Given the description of an element on the screen output the (x, y) to click on. 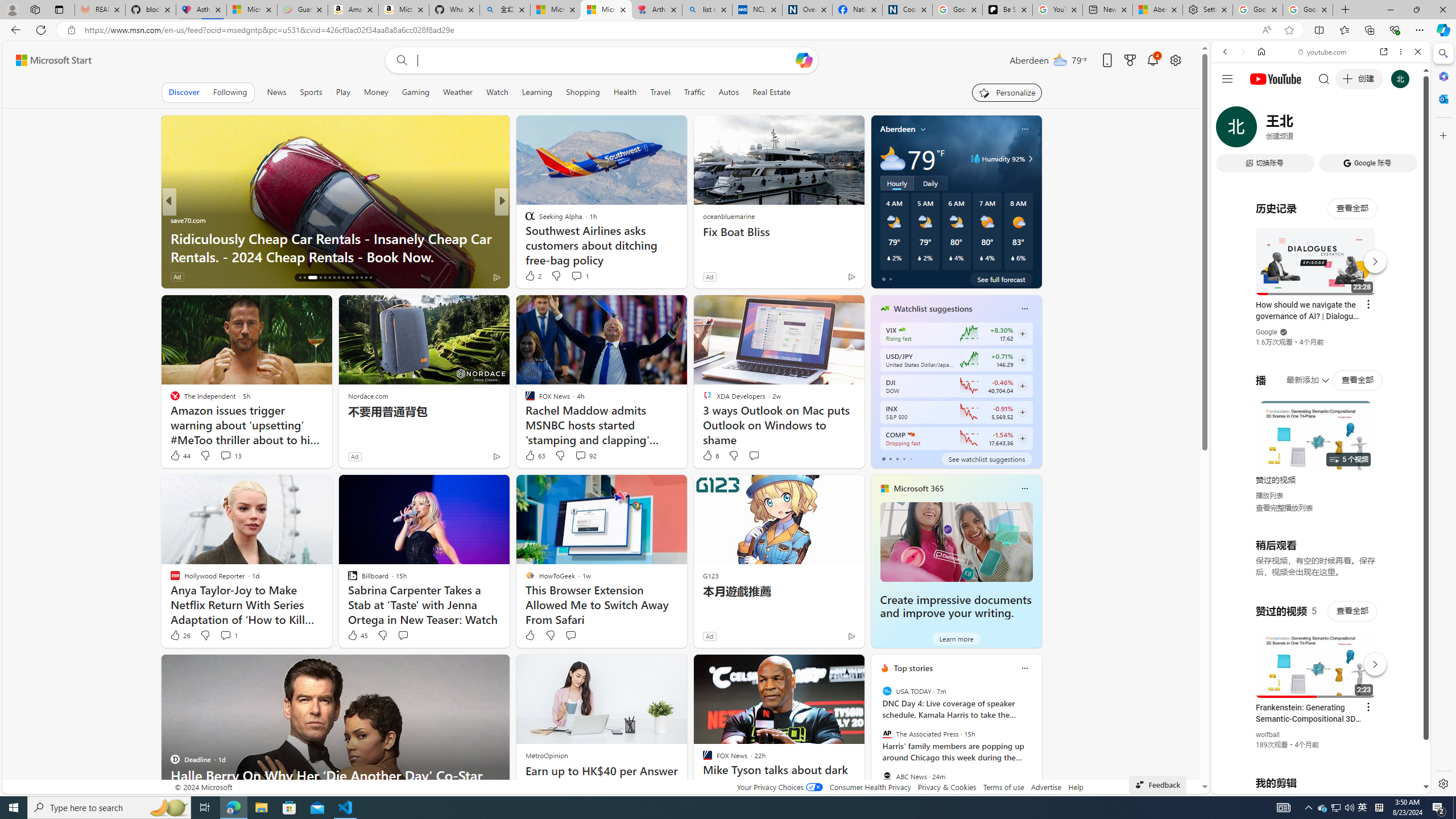
Web scope (1230, 102)
oceanbluemarine (727, 215)
AutomationID: tab-19 (320, 277)
45 Like (357, 634)
save70.com (187, 219)
next (1035, 741)
Marie Claire UK (524, 219)
